Given the description of an element on the screen output the (x, y) to click on. 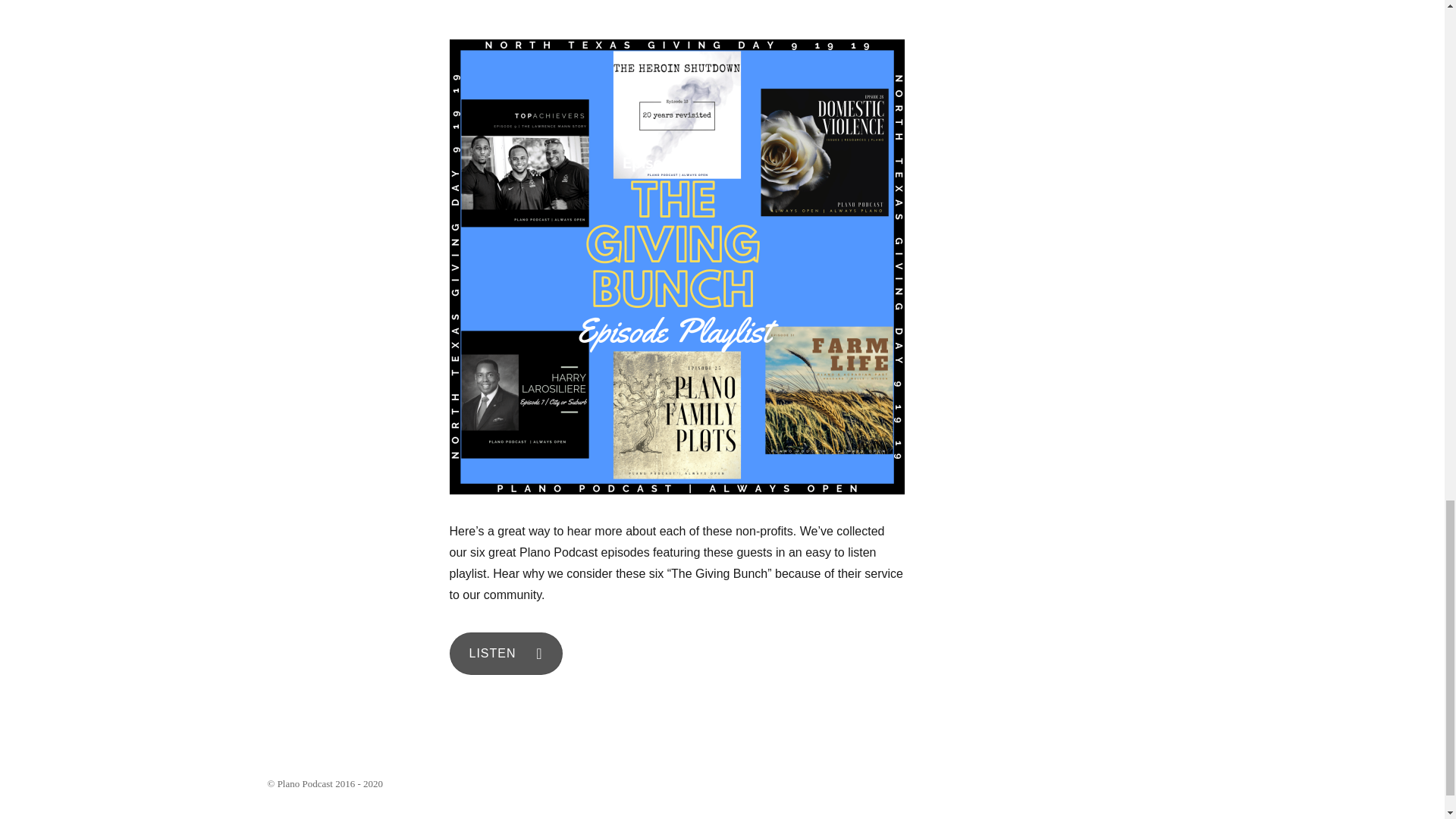
North Texas Giving Day (512, 4)
LISTEN (505, 653)
